Given the description of an element on the screen output the (x, y) to click on. 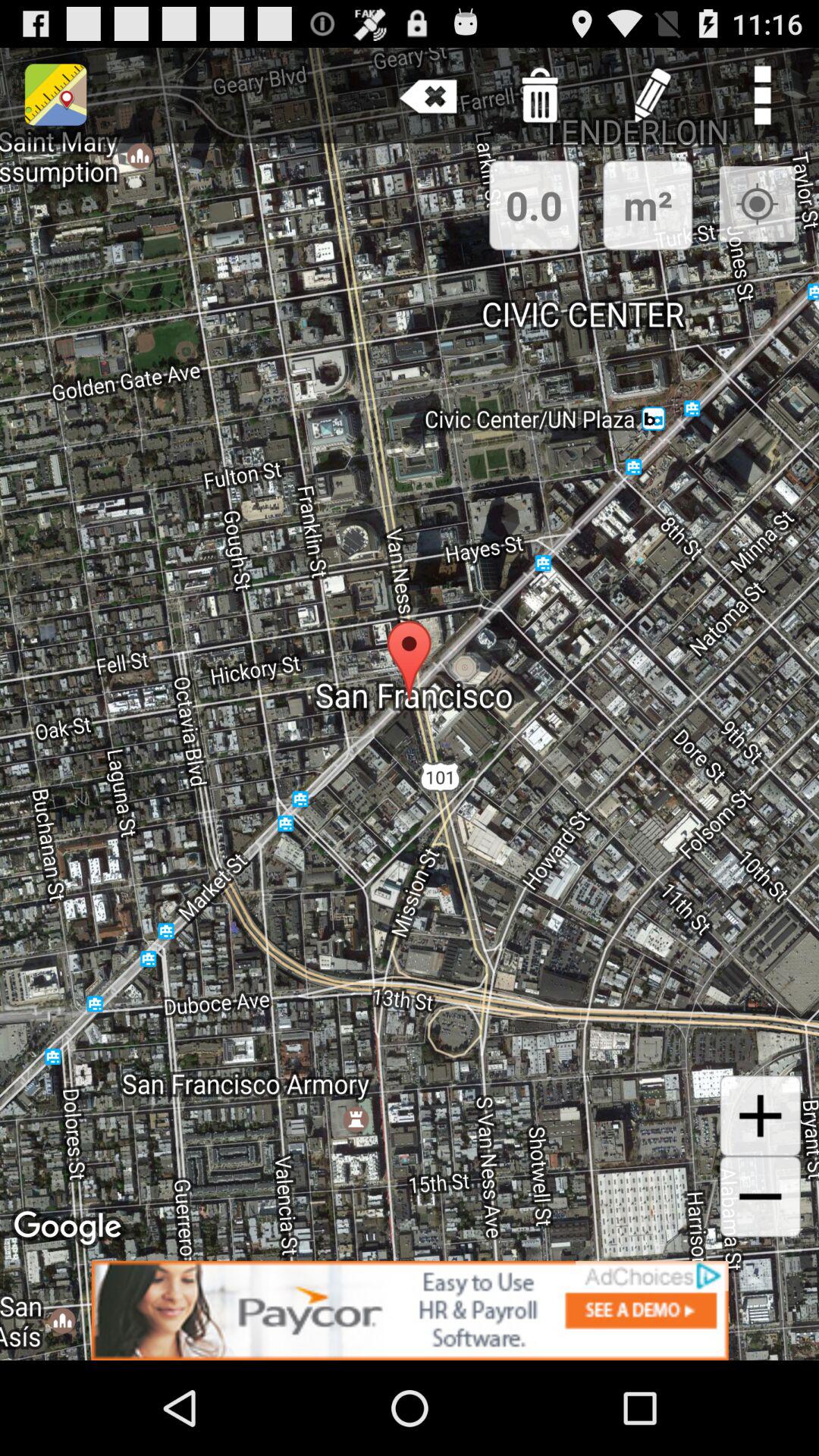
click the item at the bottom (409, 1310)
